Given the description of an element on the screen output the (x, y) to click on. 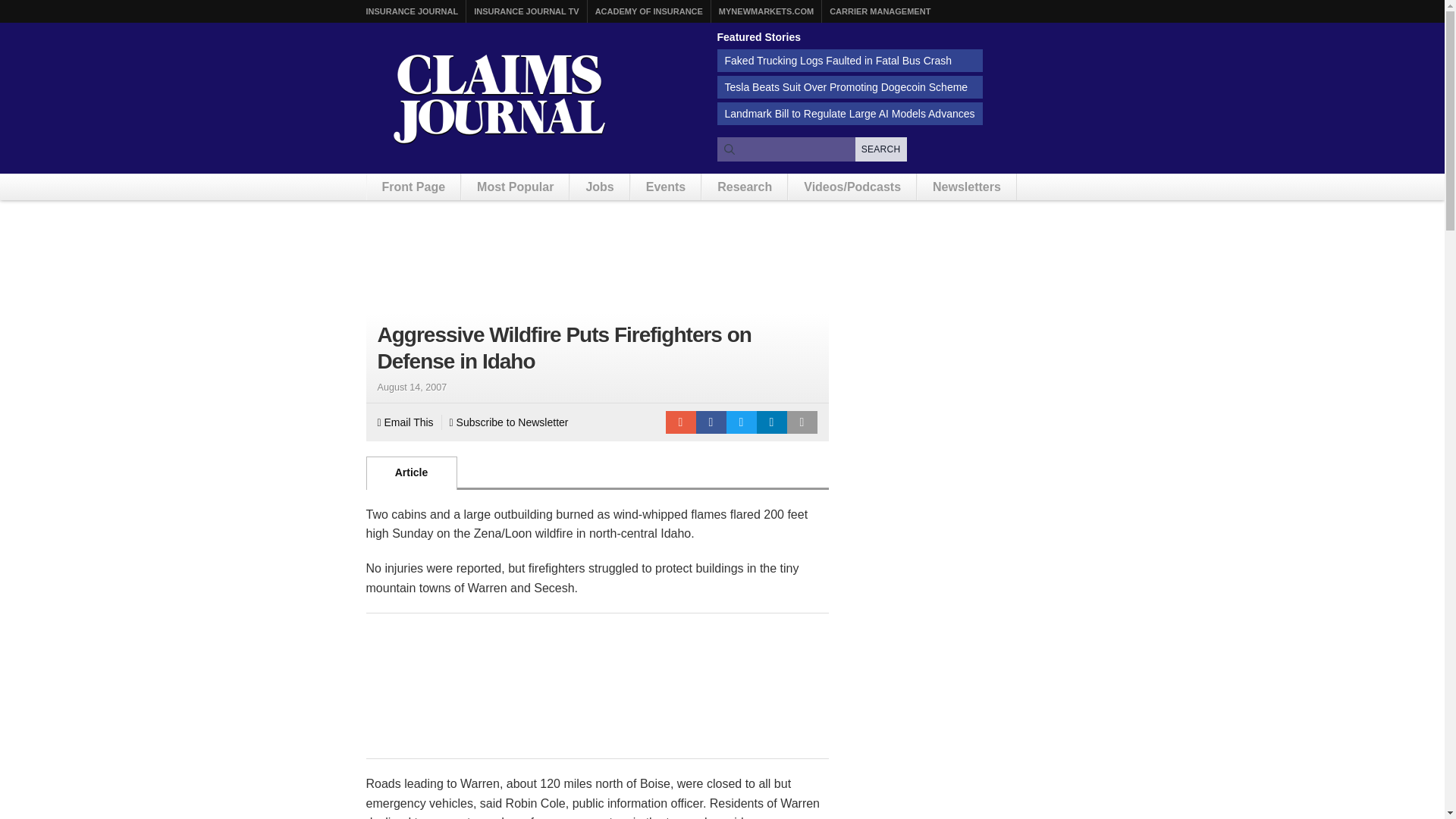
Facebook (710, 422)
Landmark Bill to Regulate Large AI Models Advances (849, 113)
Print Article (801, 422)
Tweet (741, 422)
CARRIER MANAGEMENT (879, 11)
Share on Twitter. (741, 422)
ACADEMY OF INSURANCE (649, 11)
Front Page (413, 186)
Events (665, 186)
Print Article (801, 422)
